Given the description of an element on the screen output the (x, y) to click on. 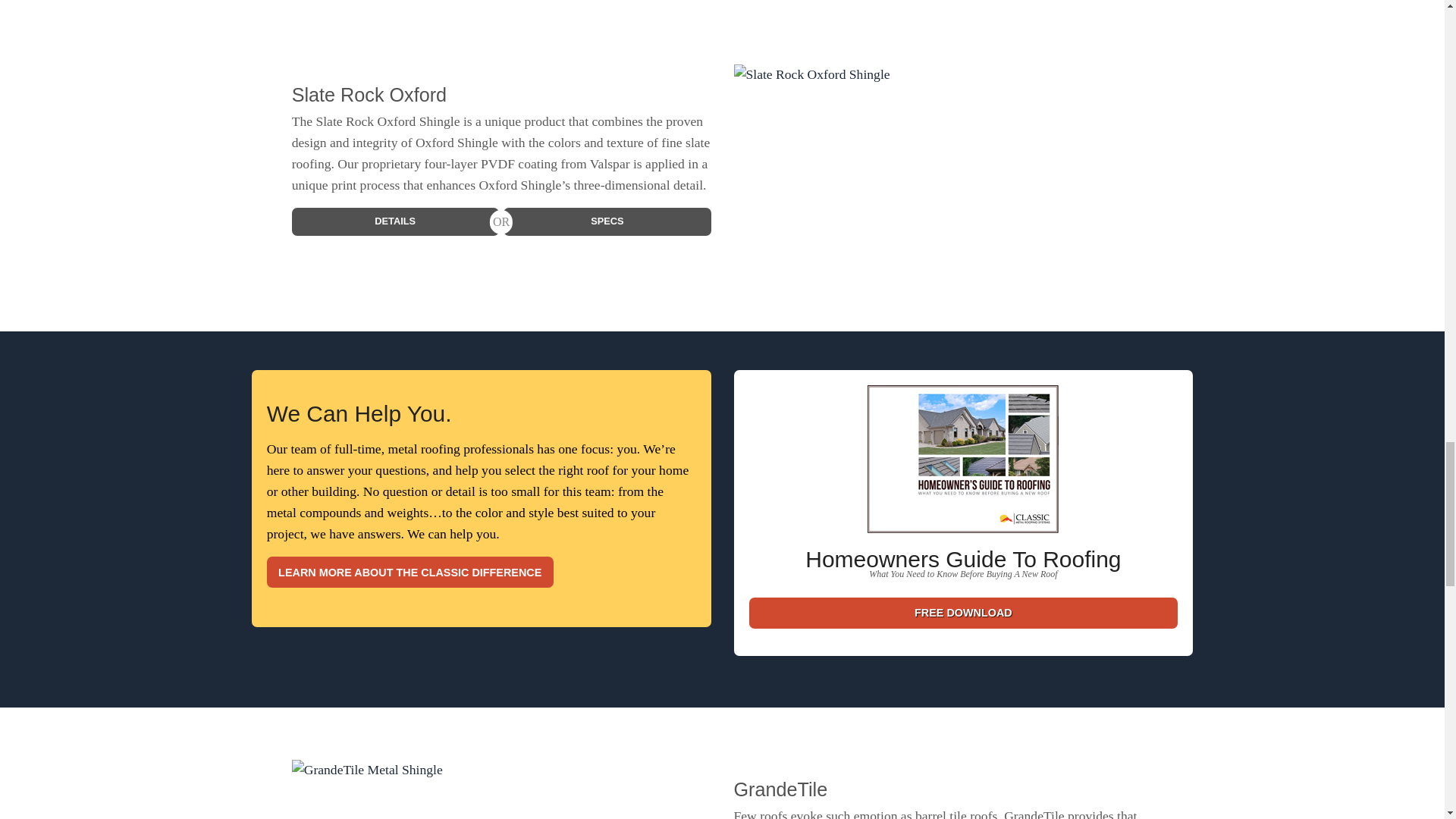
Get your free Homeowners Guide to Roofing (963, 465)
